Given the description of an element on the screen output the (x, y) to click on. 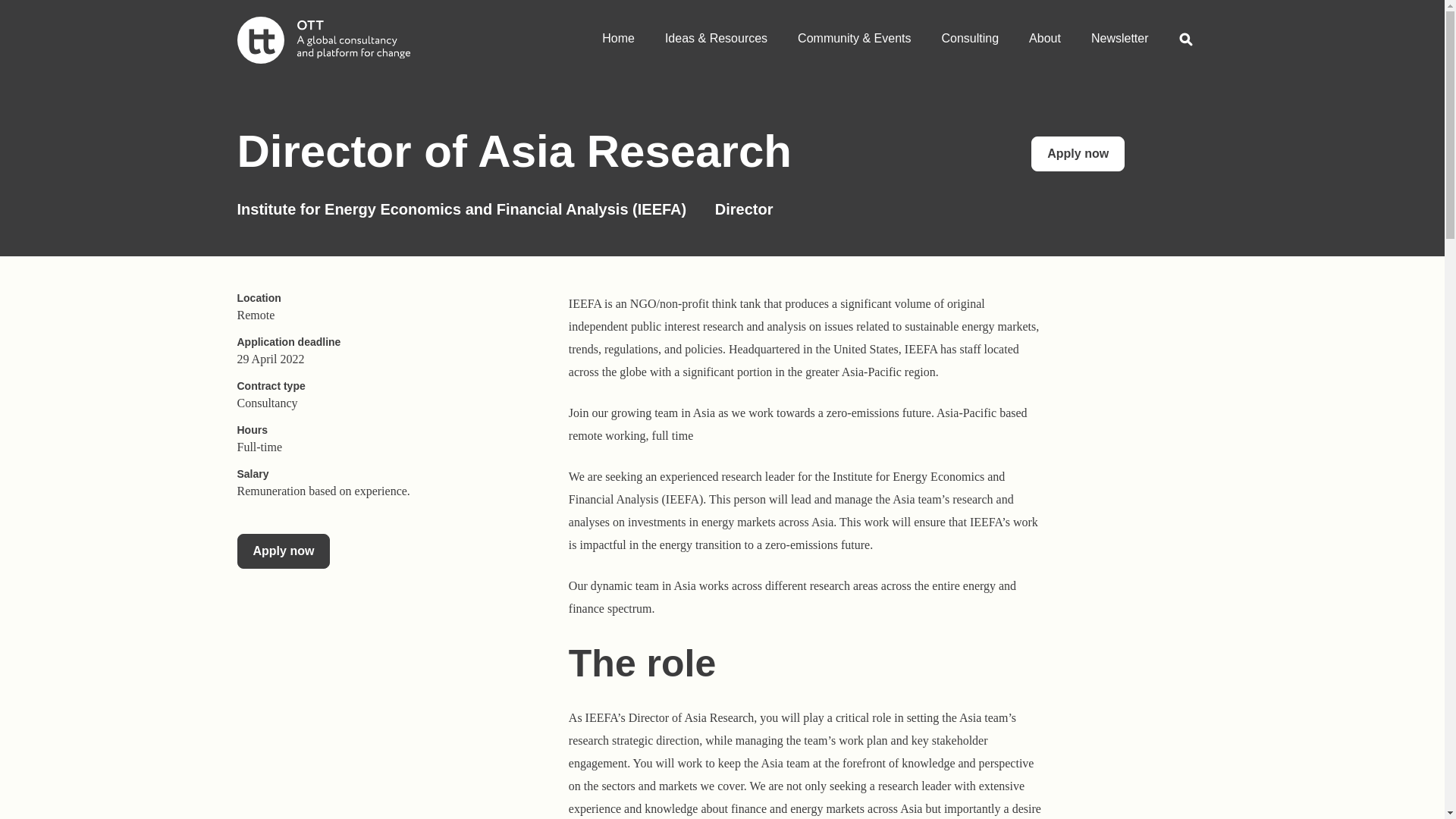
Apply now (282, 550)
Newsletter (1119, 33)
Home (617, 33)
About (1044, 33)
Consulting (970, 33)
Apply now (1077, 153)
Apply now (282, 550)
Go to homepage (322, 39)
Apply now (1077, 153)
